Given the description of an element on the screen output the (x, y) to click on. 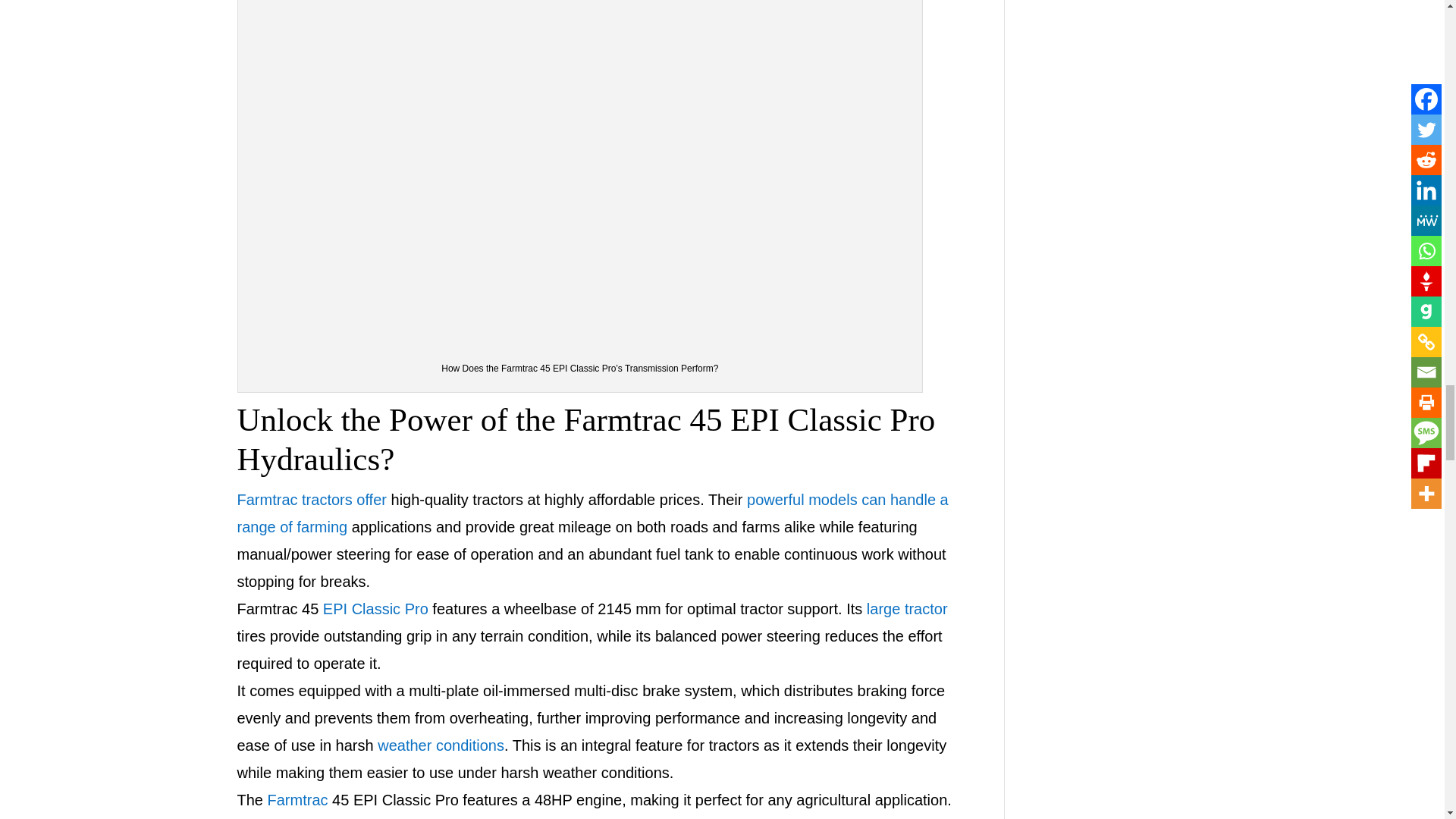
Farmtrac tractors offer (310, 499)
